Given the description of an element on the screen output the (x, y) to click on. 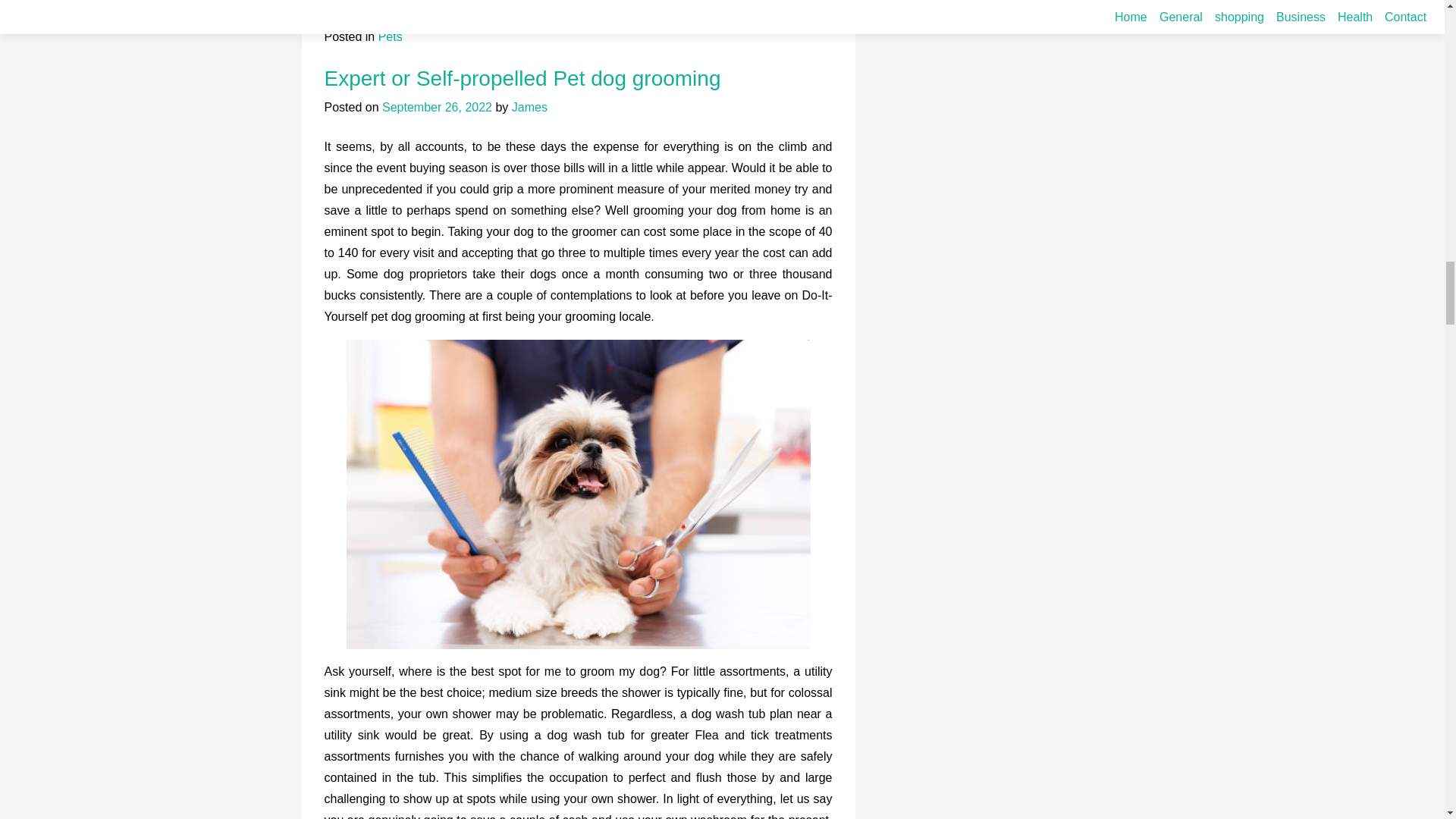
Expert or Self-propelled Pet dog grooming (522, 78)
James (529, 106)
September 26, 2022 (436, 106)
Pets (390, 36)
